Given the description of an element on the screen output the (x, y) to click on. 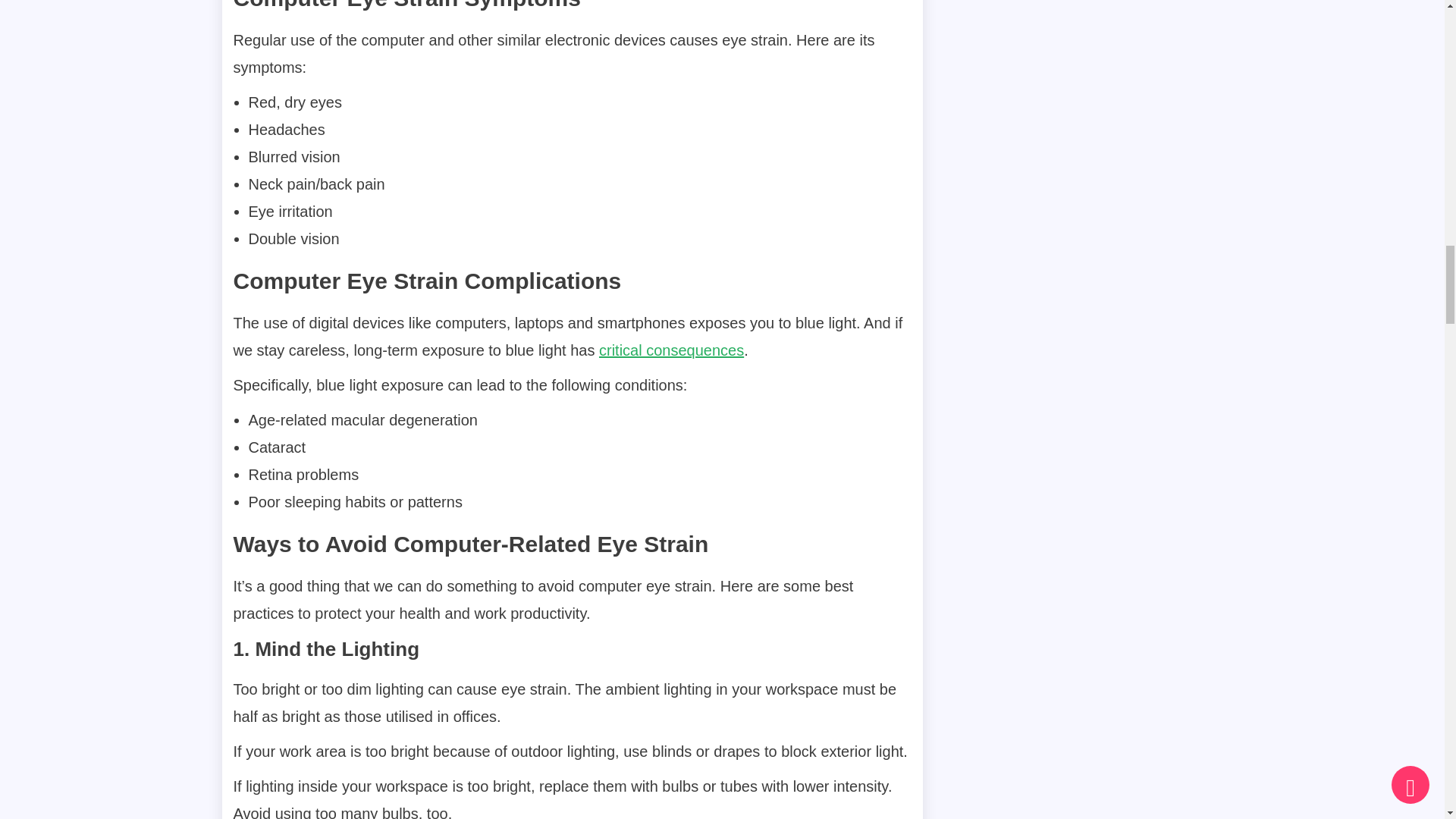
critical consequences (671, 350)
